Given the description of an element on the screen output the (x, y) to click on. 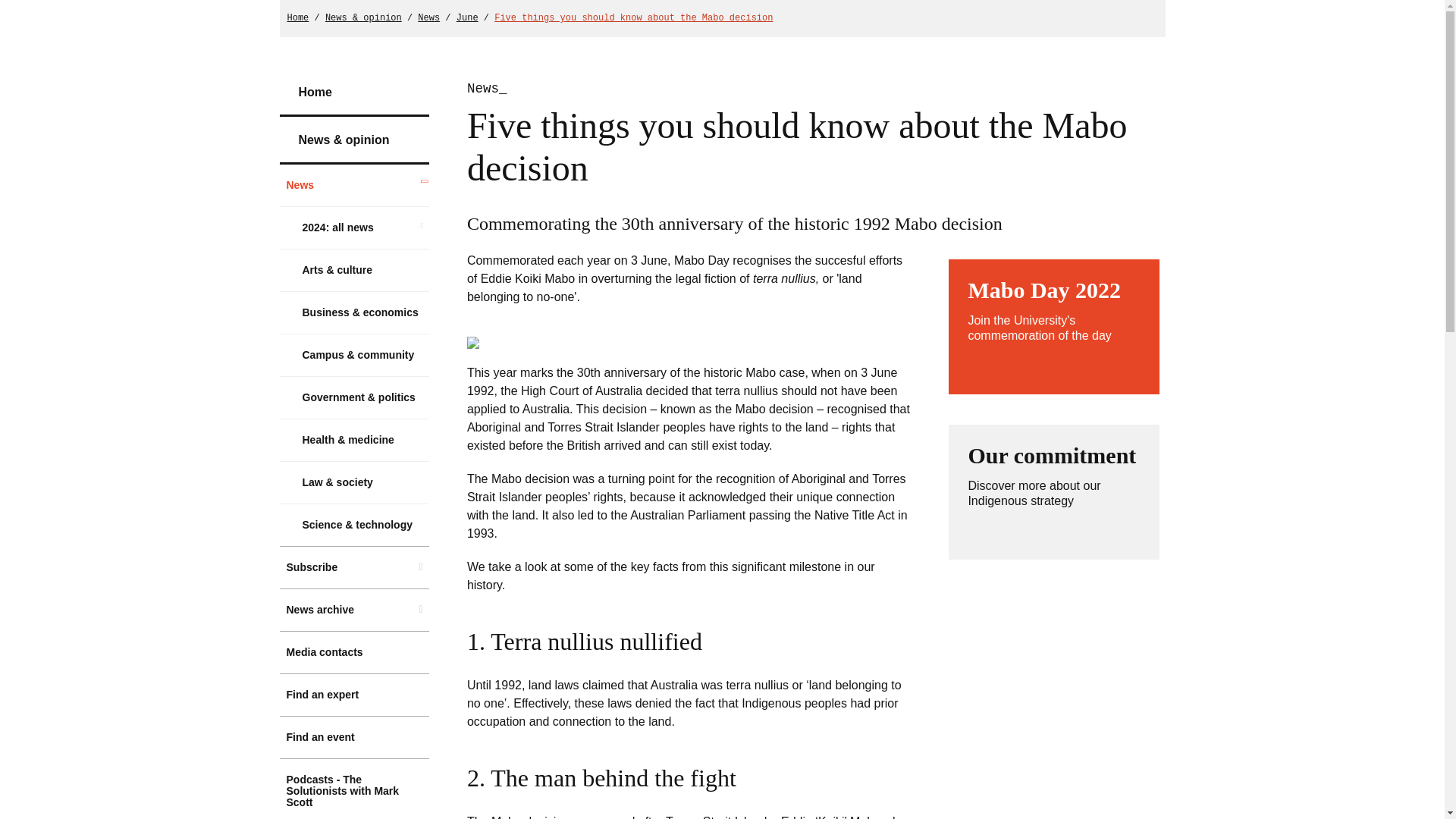
2024: all news (354, 227)
Podcasts - The Solutionists with Mark Scott (1053, 492)
Home (354, 789)
June (354, 92)
Home (468, 18)
Find an event (297, 18)
News (354, 737)
Five things you should know about the Mabo decision (428, 18)
Media contacts (634, 18)
